Given the description of an element on the screen output the (x, y) to click on. 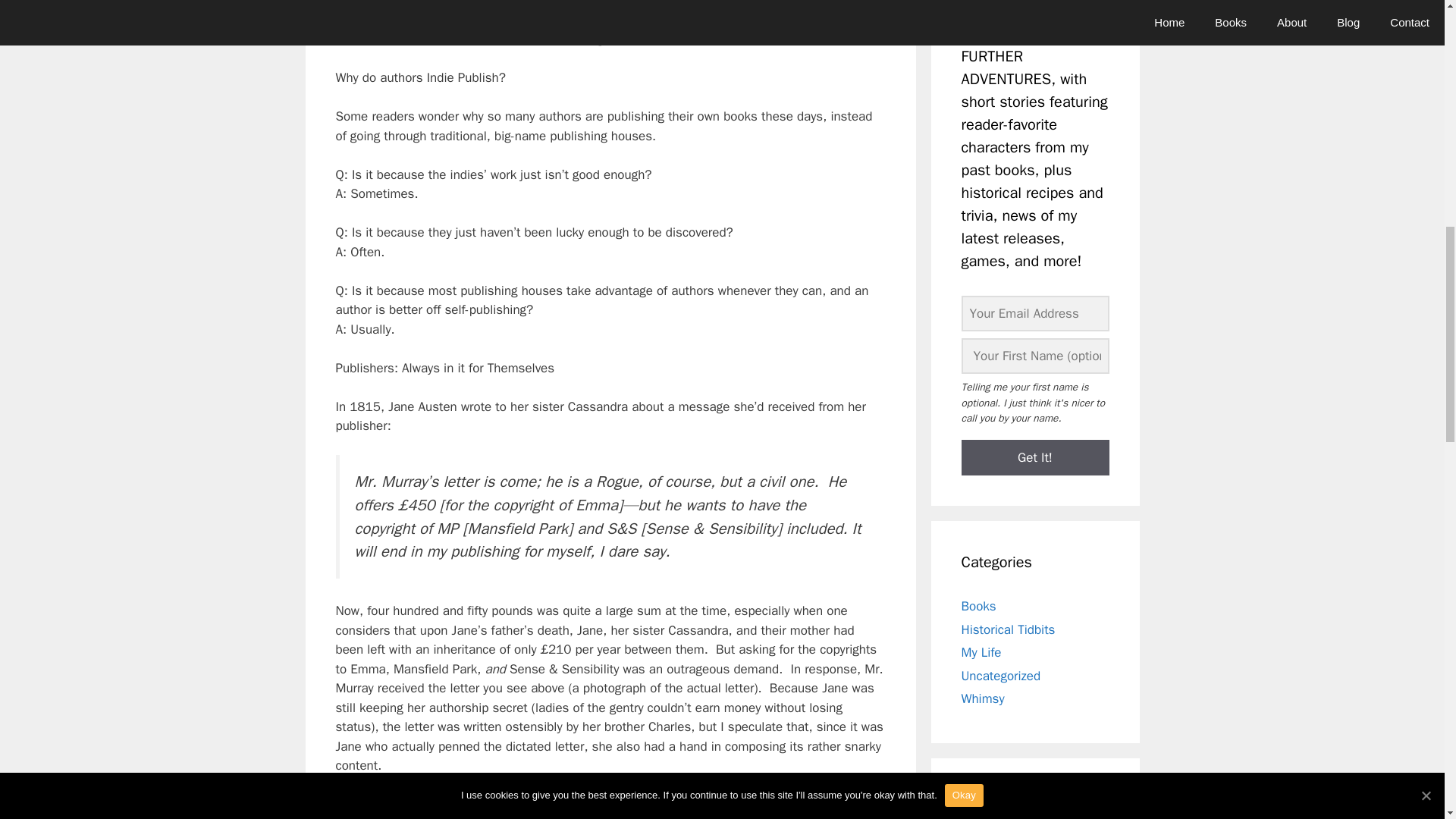
Whimsy (982, 698)
Uncategorized (1000, 675)
Get It! (1034, 457)
Books (977, 606)
Historical Tidbits (1007, 629)
My Life (980, 652)
